Given the description of an element on the screen output the (x, y) to click on. 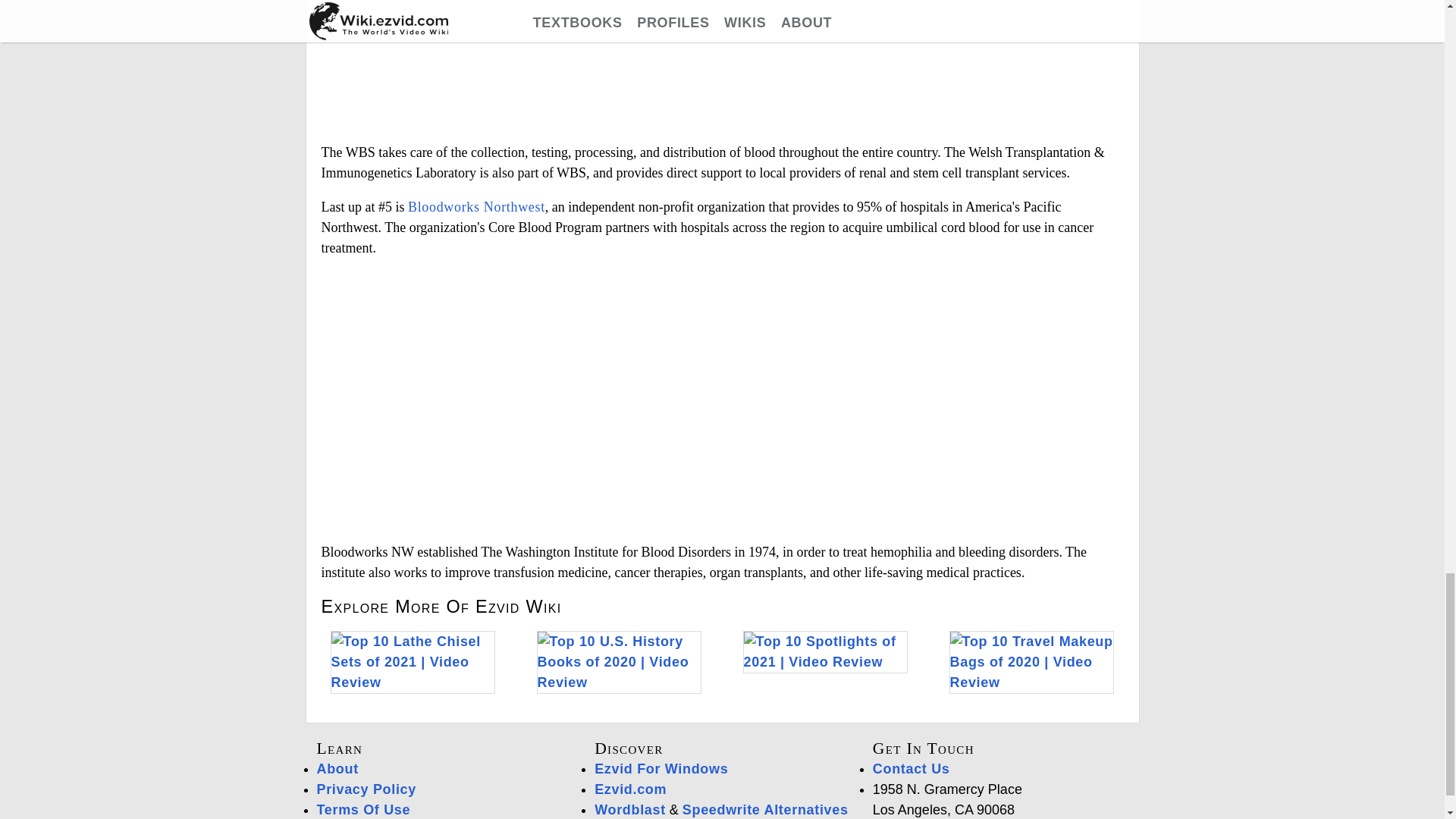
Contact Us (911, 768)
About (337, 768)
Privacy Policy (366, 789)
Wordblast (629, 809)
Speedwrite Alternatives (765, 809)
Ezvid.com (630, 789)
Terms Of Use (363, 809)
Bloodworks Northwest (475, 206)
Ezvid For Windows (661, 768)
